Given the description of an element on the screen output the (x, y) to click on. 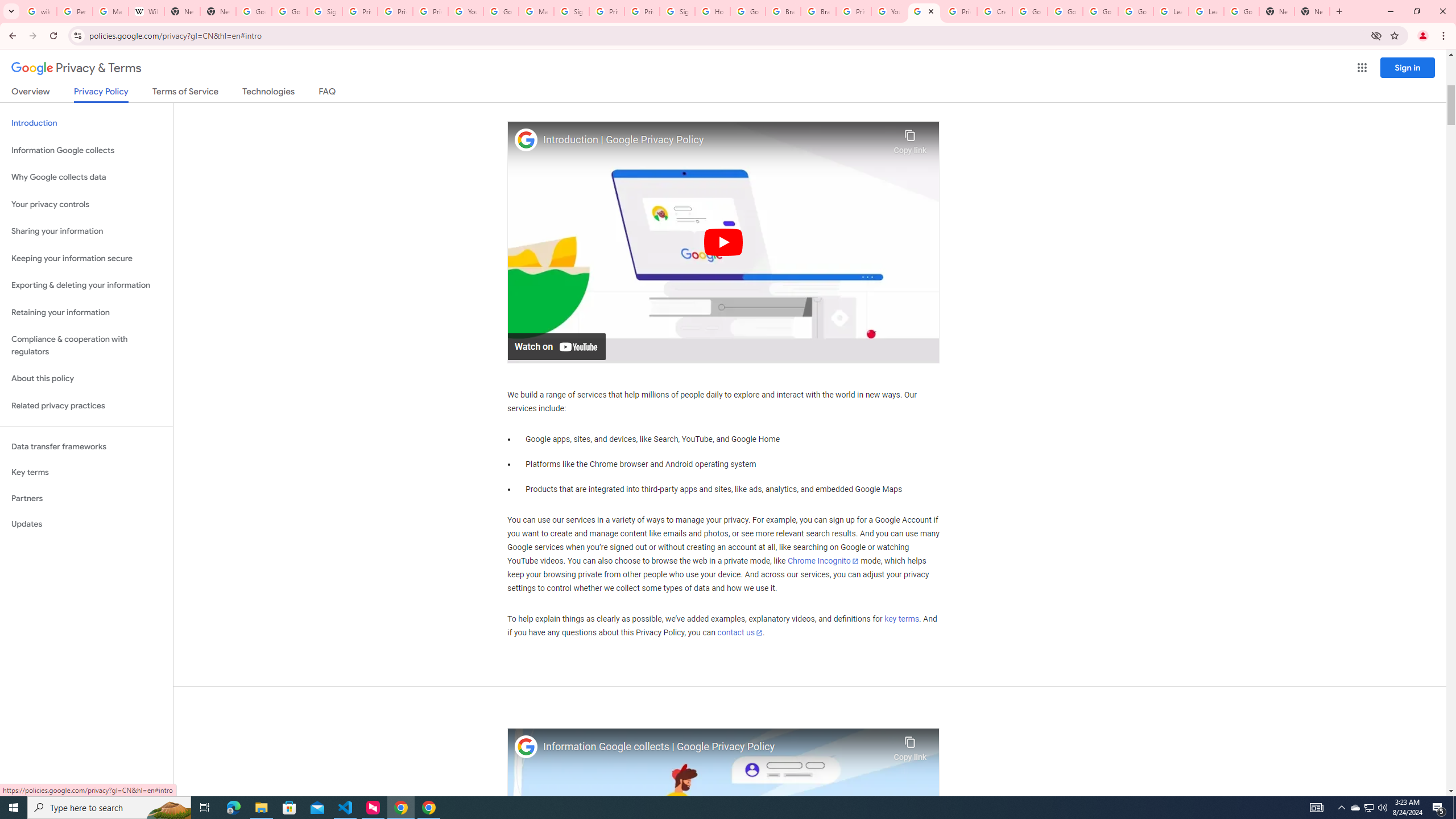
Keeping your information secure (86, 258)
Google Account Help (501, 11)
Information Google collects | Google Privacy Policy (715, 747)
Personalization & Google Search results - Google Search Help (74, 11)
Compliance & cooperation with regulators (86, 345)
Google Drive: Sign-in (288, 11)
FAQ (327, 93)
Photo image of Google (526, 746)
About this policy (86, 379)
Google Account Help (1064, 11)
